Given the description of an element on the screen output the (x, y) to click on. 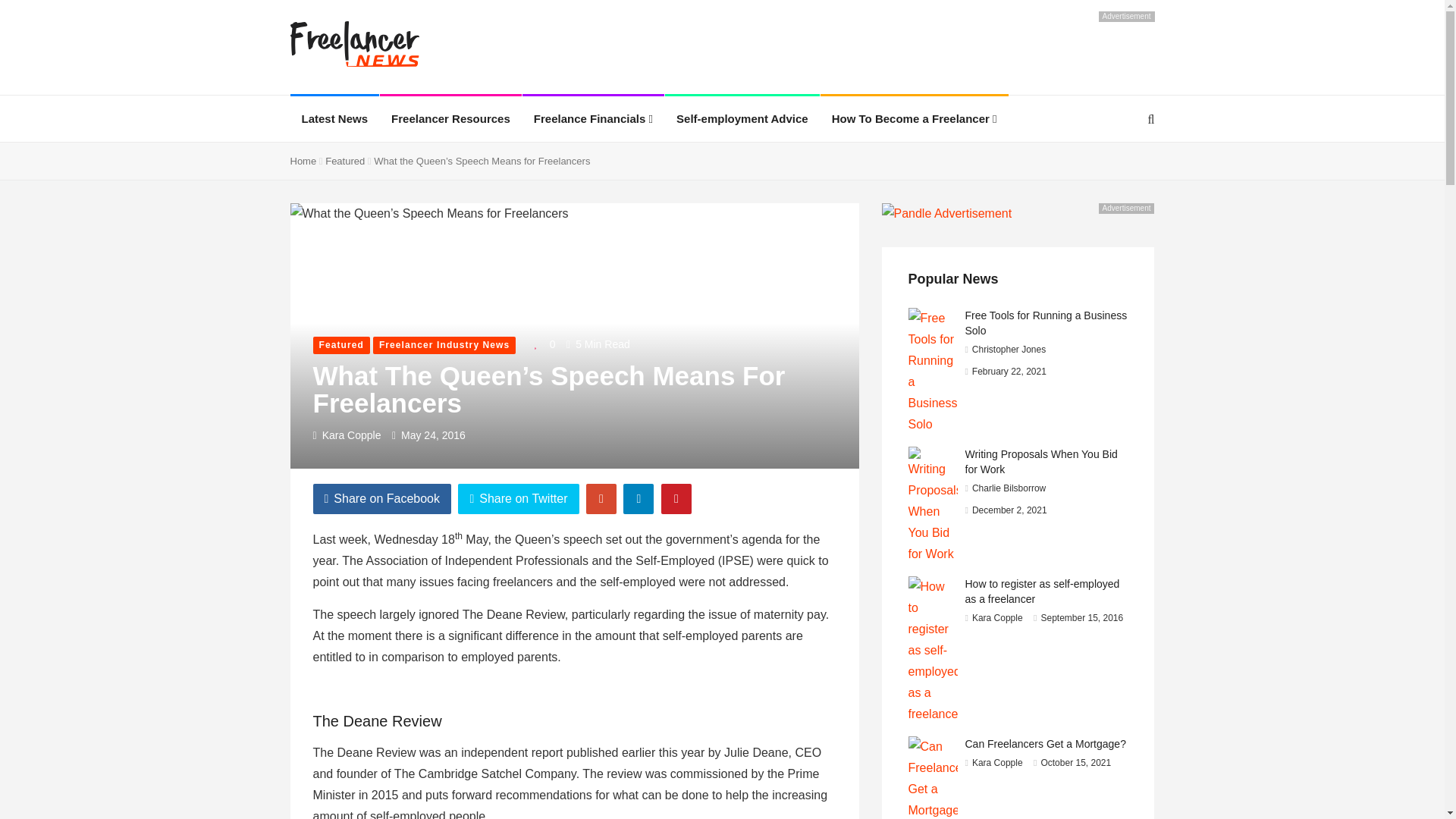
Freelancer News (354, 45)
Self-employment Advice (742, 118)
Kara Copple (351, 435)
Share on Twitter! (518, 499)
Latest News (334, 118)
Freelancer Industry News (443, 344)
Share on Linkedin! (638, 499)
0 (541, 343)
Featured (341, 344)
Freelancer Resources (451, 118)
Share on Twitter (518, 499)
Share on Facebook! (382, 499)
May 24, 2016 (433, 435)
Home (302, 161)
Freelance Financials (593, 118)
